Given the description of an element on the screen output the (x, y) to click on. 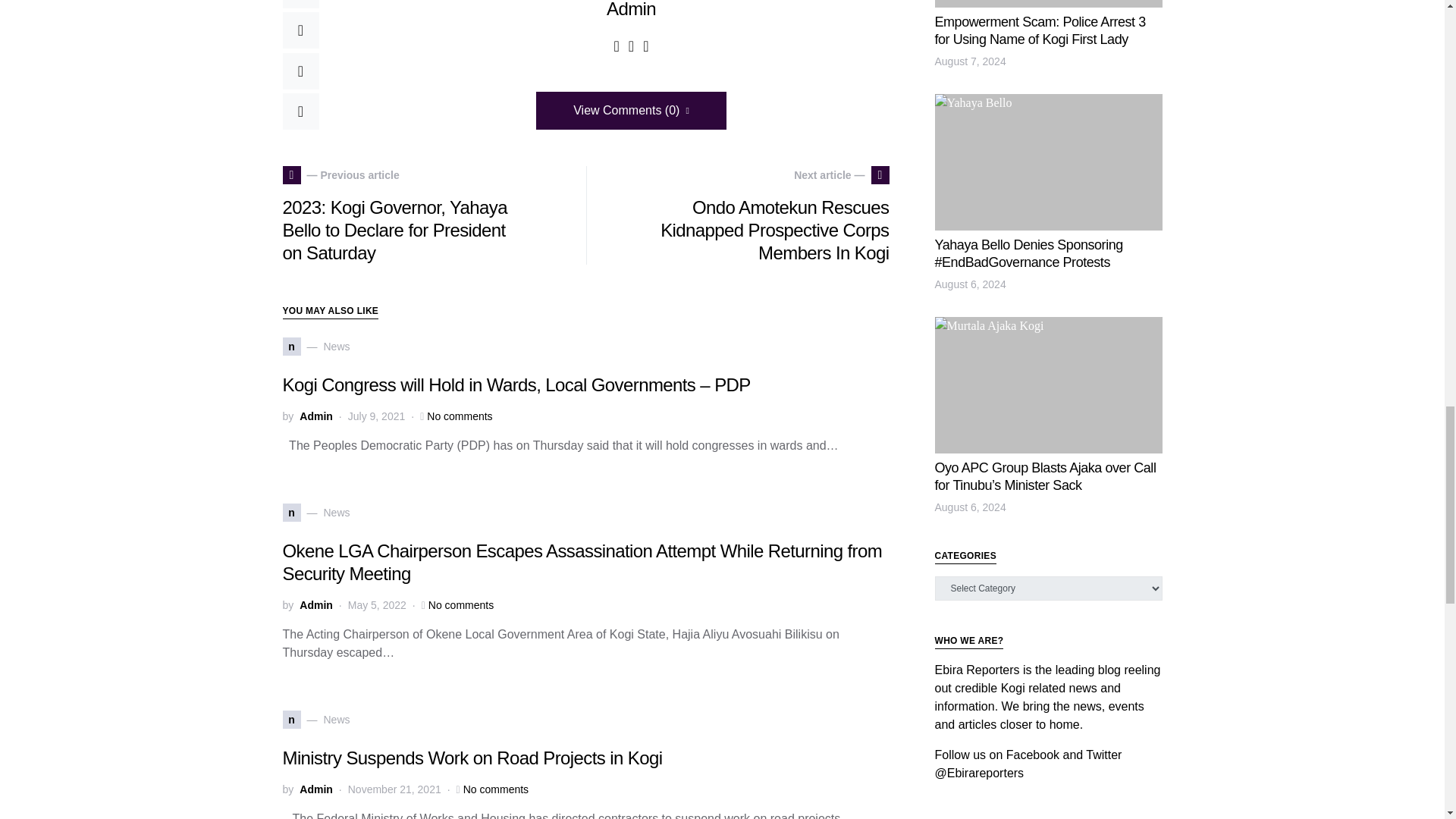
View all posts by Admin (316, 605)
View all posts by Admin (316, 789)
View all posts by Admin (316, 416)
